Given the description of an element on the screen output the (x, y) to click on. 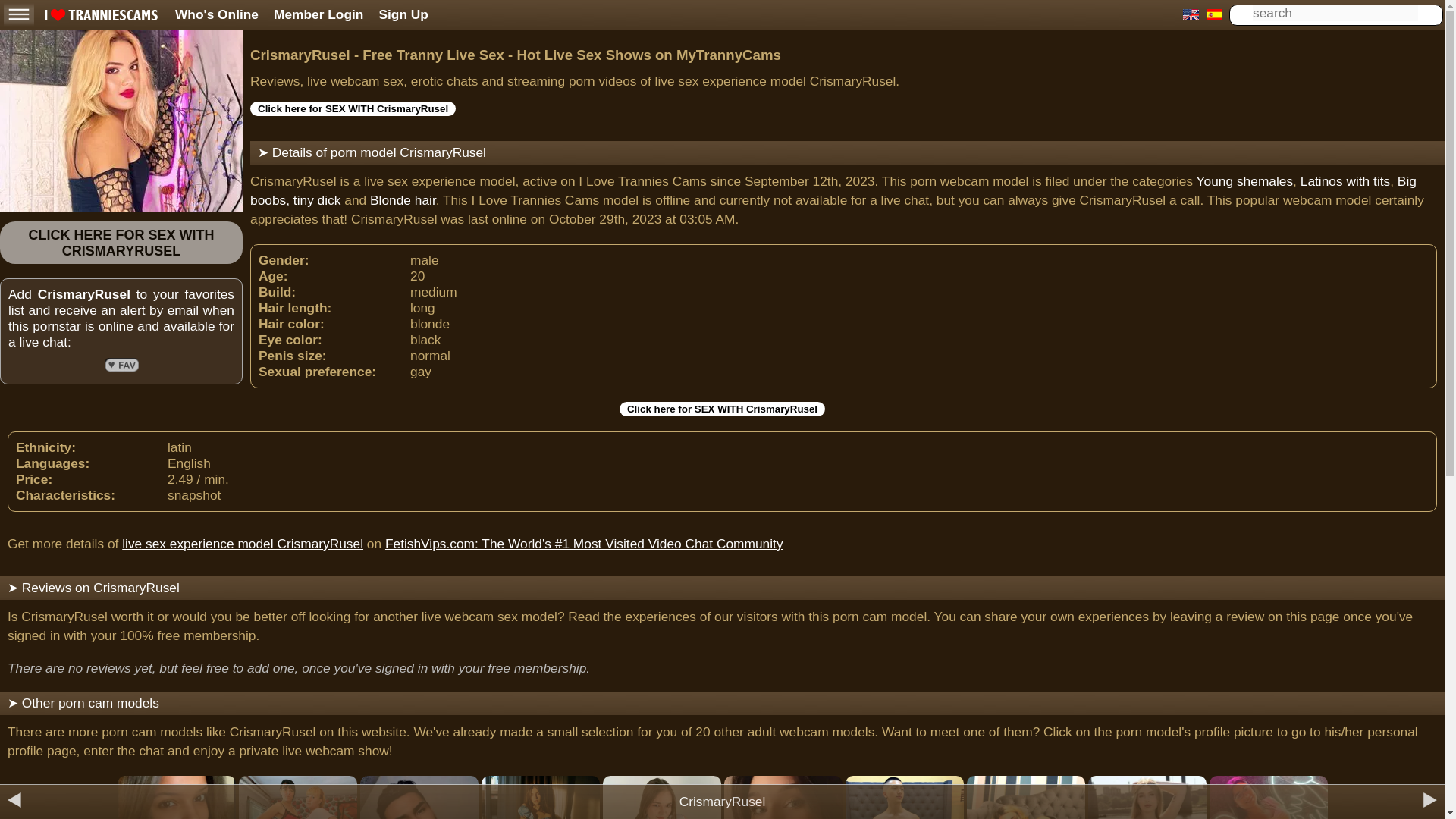
I Love Trannies Cams (101, 17)
CLICK HERE FOR SEX WITH CRISMARYRUSEL (120, 243)
Who's Online (216, 14)
Who's Online (216, 14)
English (1190, 15)
